Given the description of an element on the screen output the (x, y) to click on. 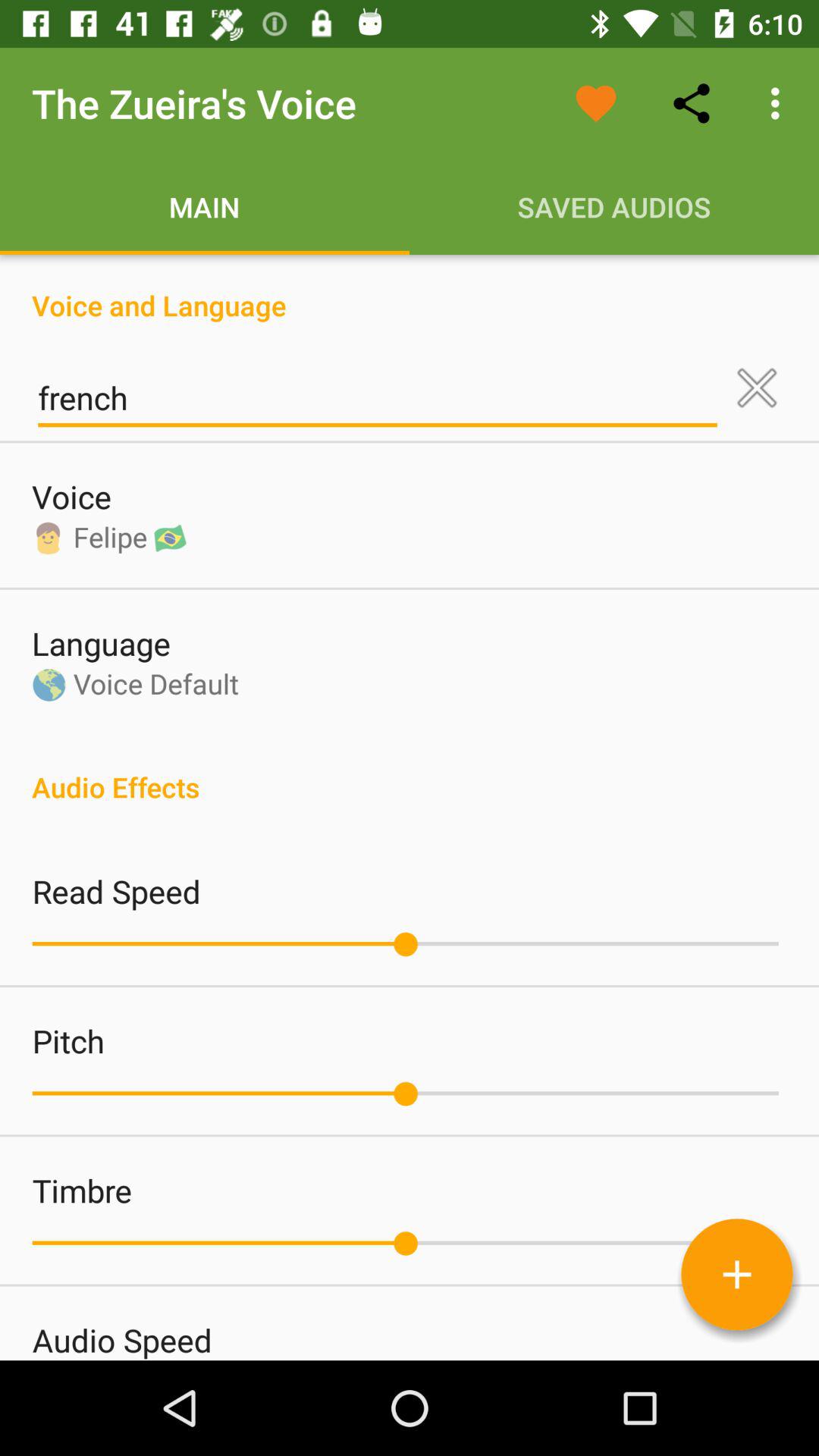
turn off the icon next to french (756, 387)
